Given the description of an element on the screen output the (x, y) to click on. 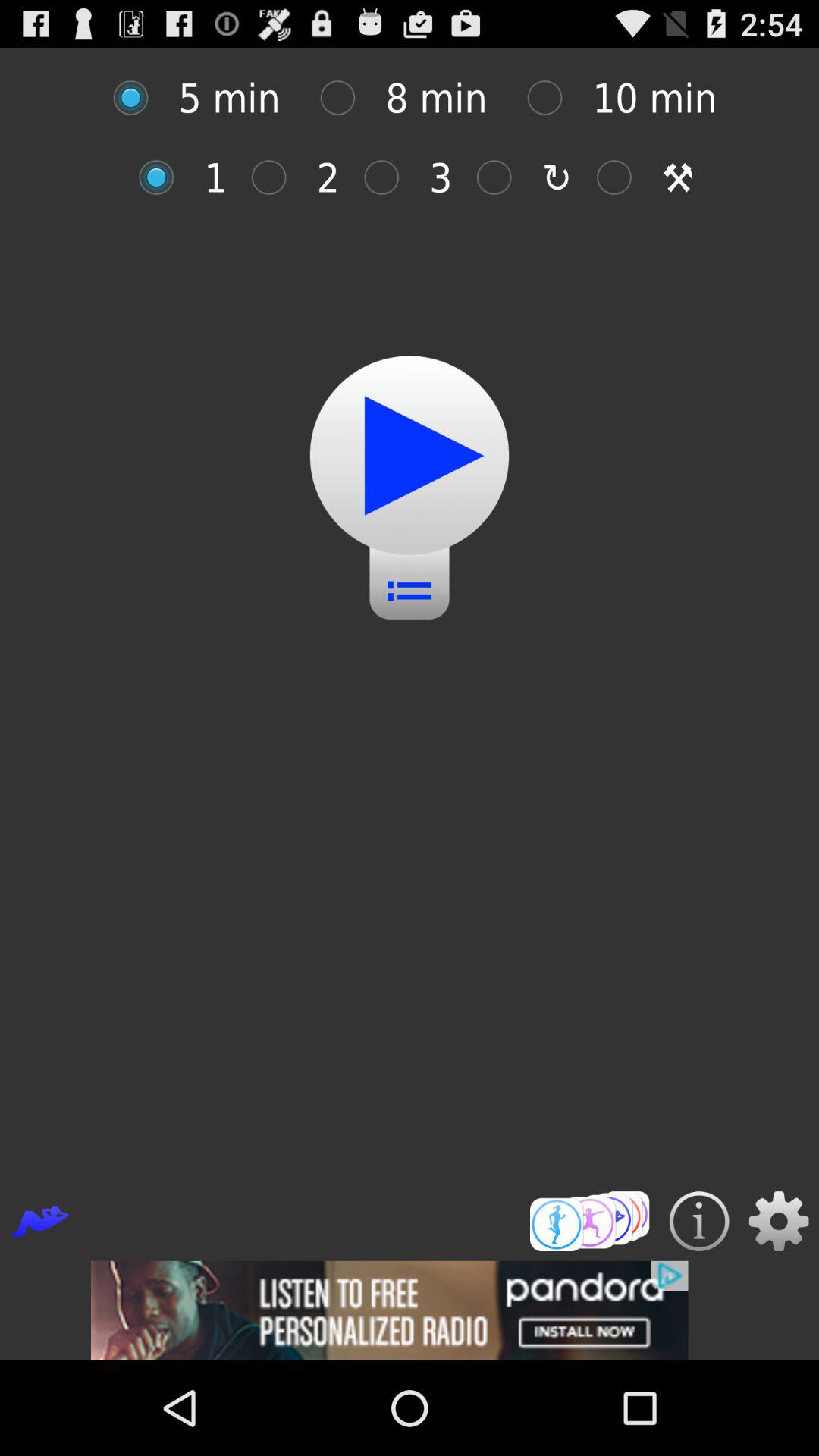
go to customize (138, 97)
